Given the description of an element on the screen output the (x, y) to click on. 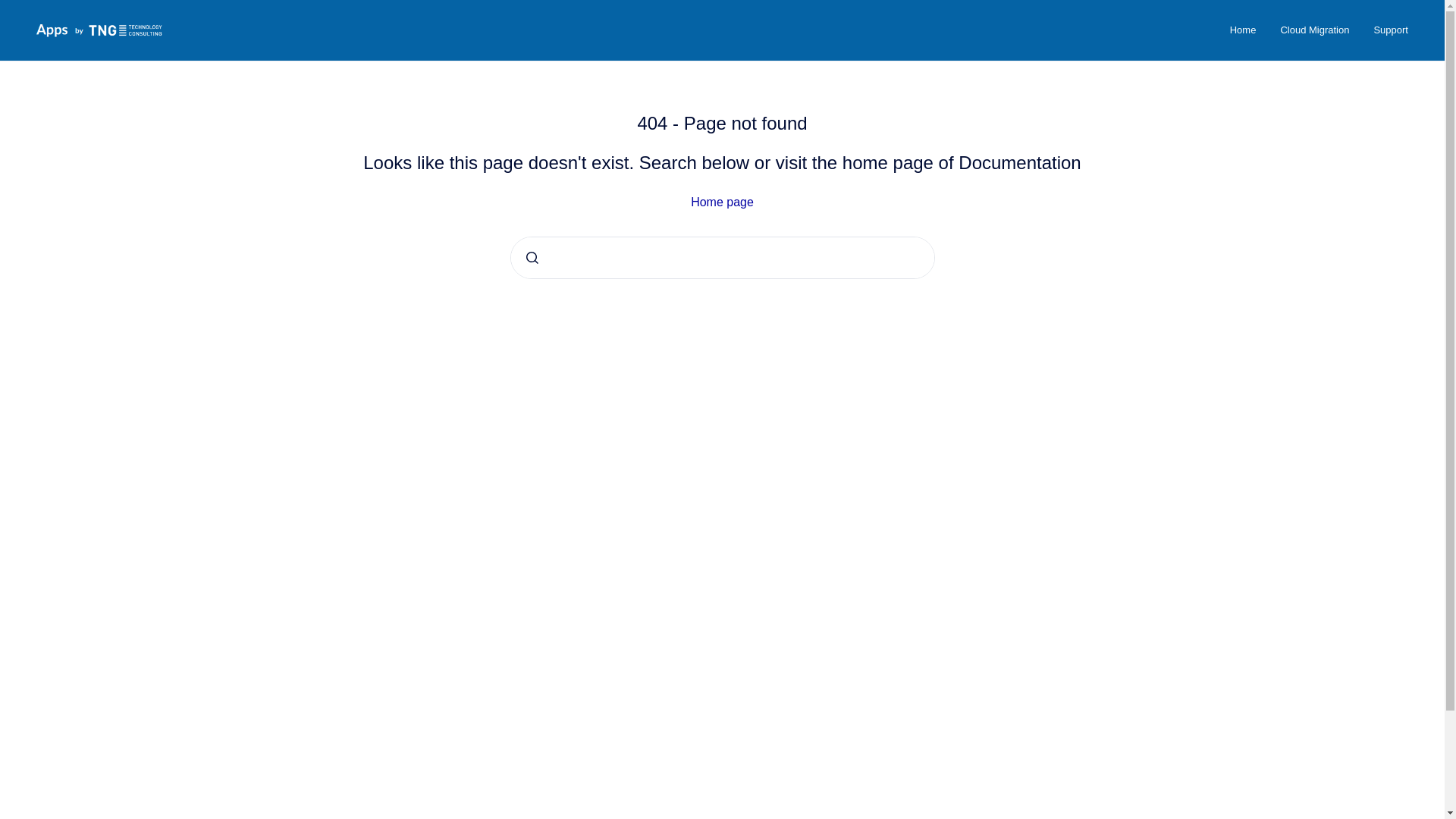
Home (1242, 29)
Home page (722, 201)
Cloud Migration (1314, 29)
Go to homepage (98, 30)
Support (1391, 29)
